Given the description of an element on the screen output the (x, y) to click on. 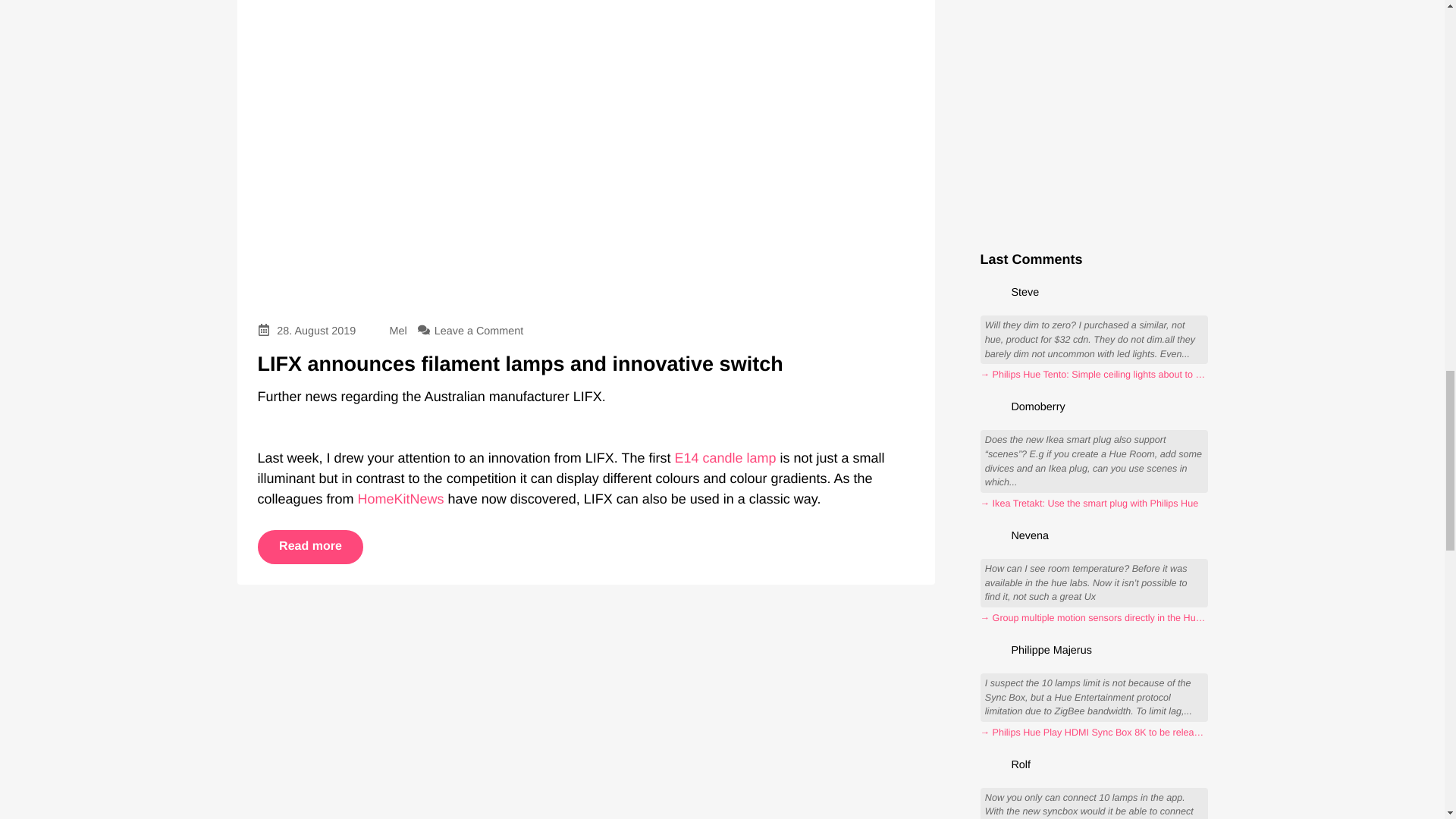
Read more (310, 546)
